Given the description of an element on the screen output the (x, y) to click on. 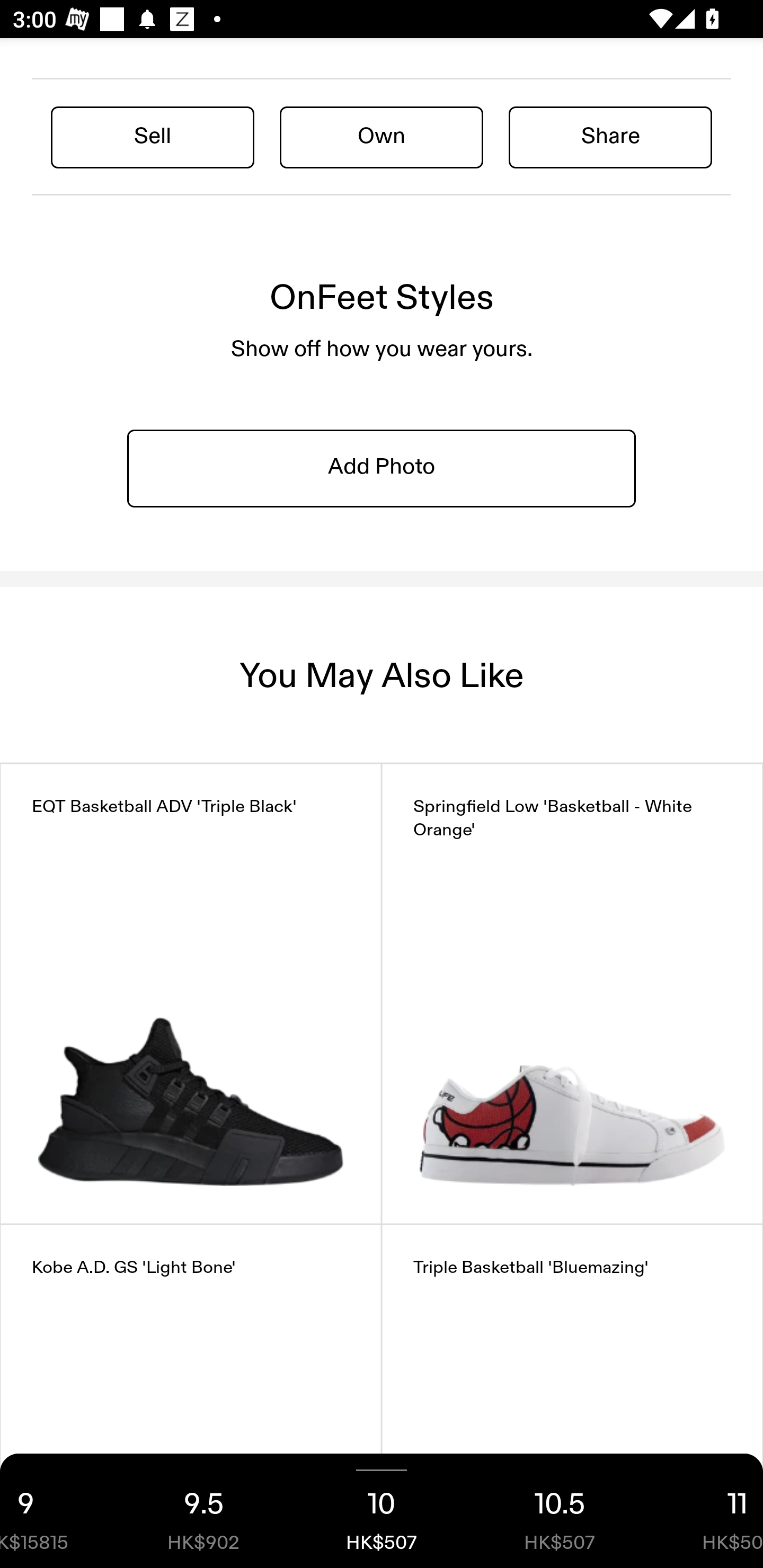
Sell (152, 136)
Own (381, 136)
Share (609, 136)
Add Photo (381, 468)
EQT Basketball ADV 'Triple Black' (190, 993)
Springfield Low 'Basketball - White Orange' (572, 993)
Kobe A.D. GS 'Light Bone' (190, 1396)
Triple Basketball 'Bluemazing' (572, 1396)
9 HK$15815 (57, 1510)
9.5 HK$902 (203, 1510)
10 HK$507 (381, 1510)
10.5 HK$507 (559, 1510)
11 HK$507 (705, 1510)
